Given the description of an element on the screen output the (x, y) to click on. 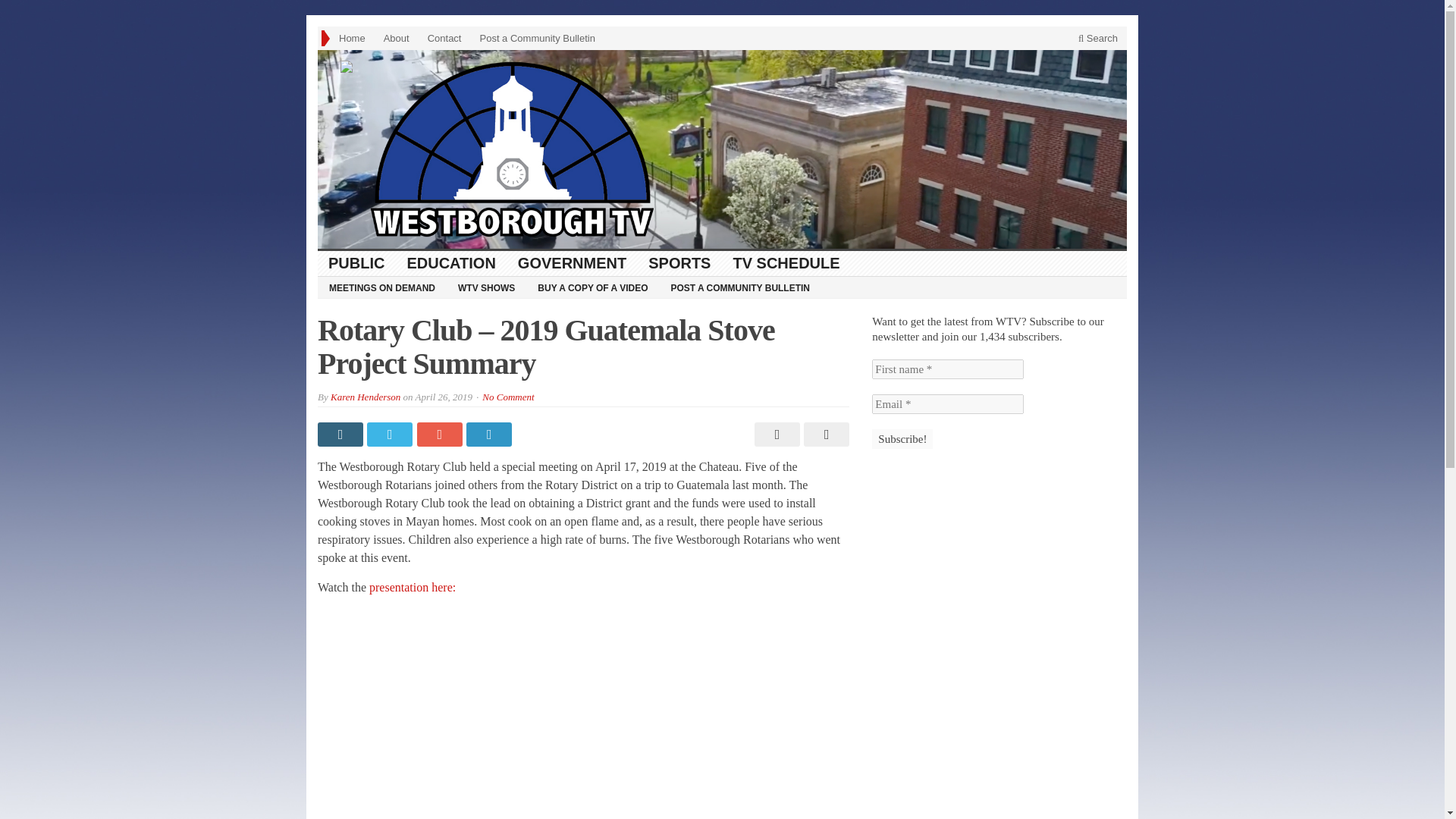
GOVERNMENT (571, 263)
Post a Community Bulletin (537, 37)
SPORTS (679, 263)
Subscribe! (902, 438)
First name (947, 369)
Contact (444, 37)
TV SCHEDULE (786, 263)
Home (352, 37)
Email (947, 403)
